Given the description of an element on the screen output the (x, y) to click on. 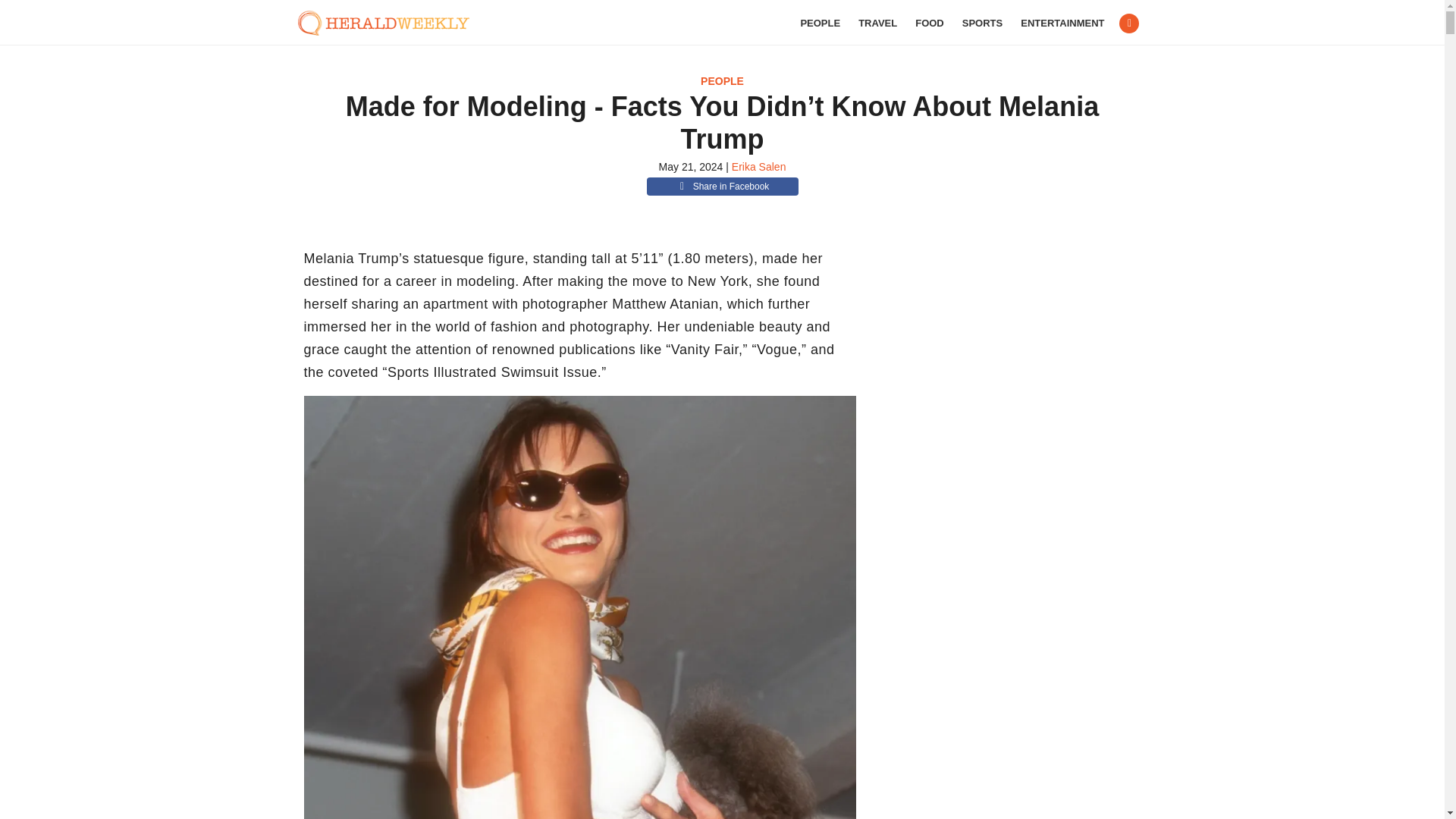
Facebook (1128, 23)
Share in Facebook (721, 186)
ENTERTAINMENT (1061, 23)
SPORTS (982, 23)
FOOD (929, 23)
Erika Salen (759, 166)
TRAVEL (877, 23)
PEOPLE (722, 80)
Herald Weekly (391, 22)
PEOPLE (819, 23)
